Given the description of an element on the screen output the (x, y) to click on. 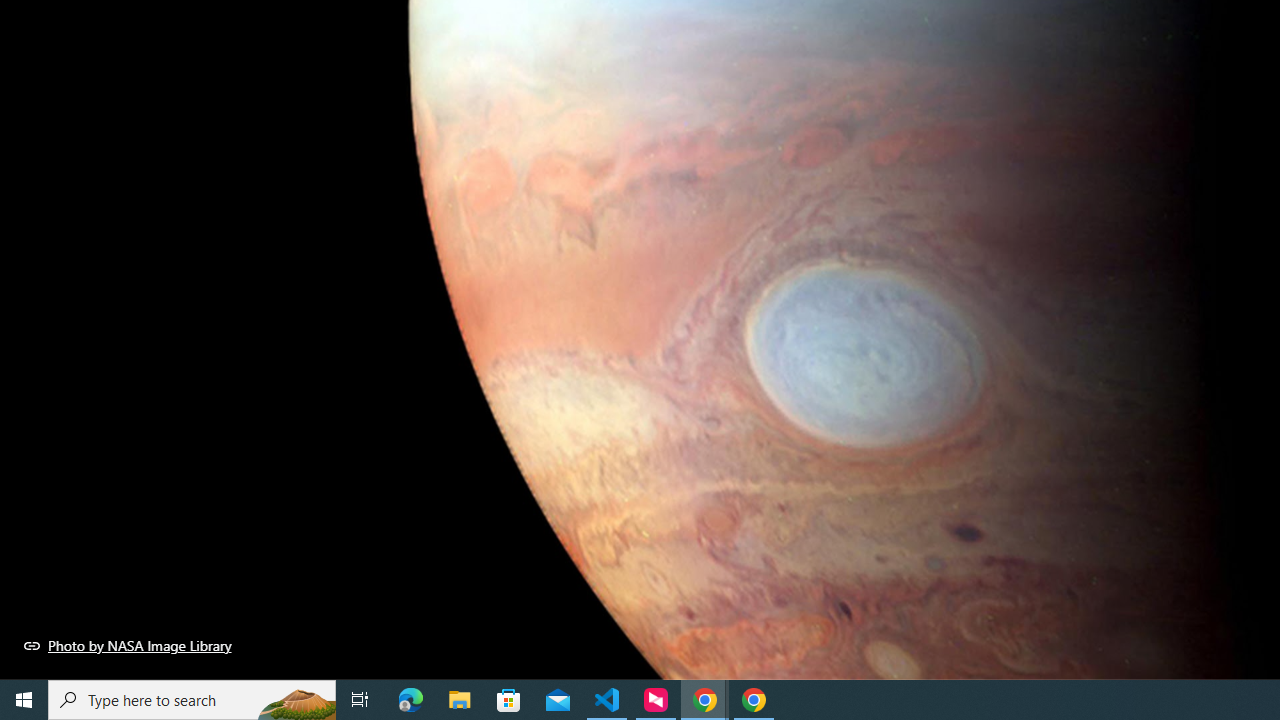
Photo by NASA Image Library (127, 645)
